Given the description of an element on the screen output the (x, y) to click on. 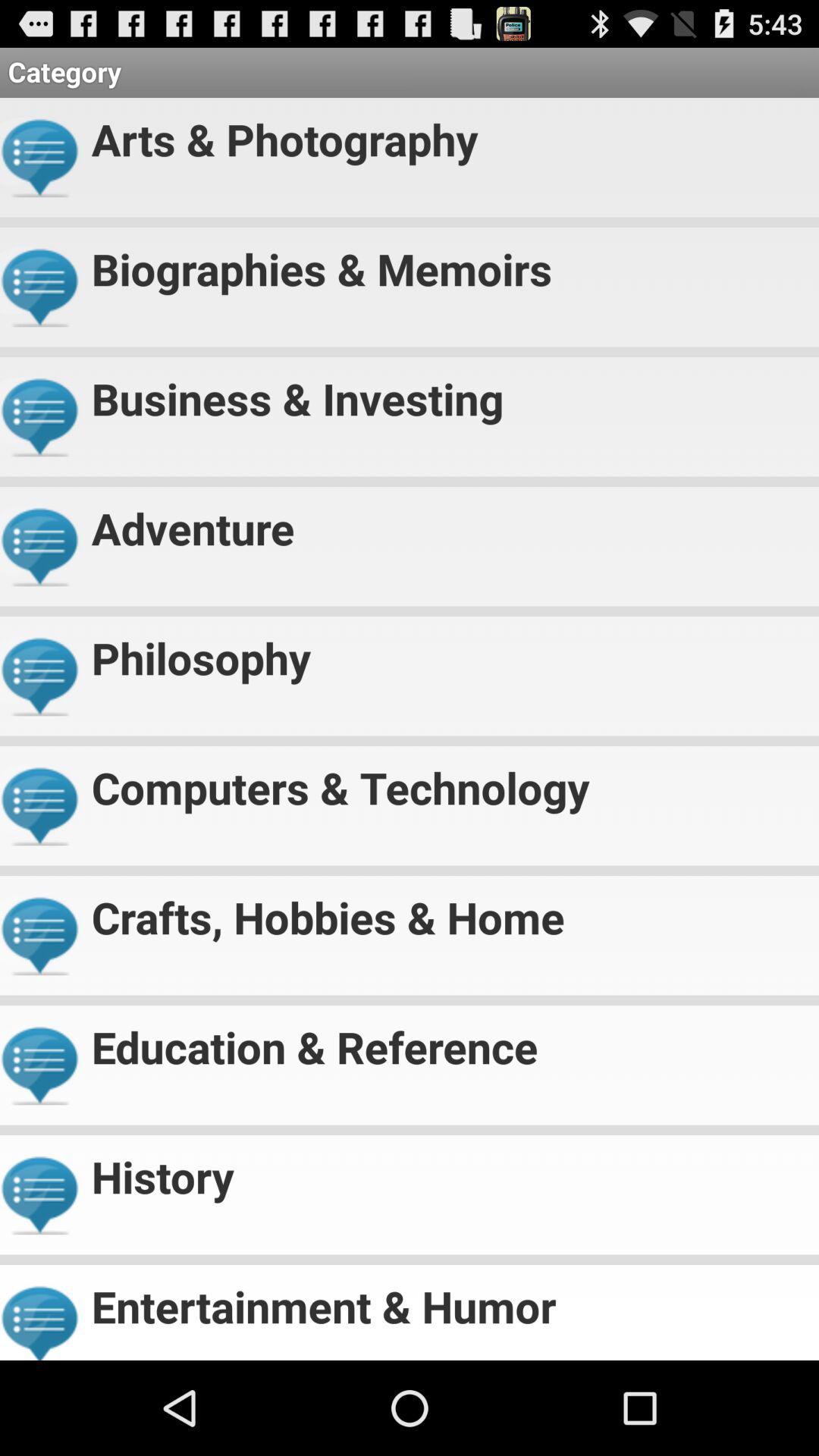
turn off the entertainment & humor app (449, 1299)
